Given the description of an element on the screen output the (x, y) to click on. 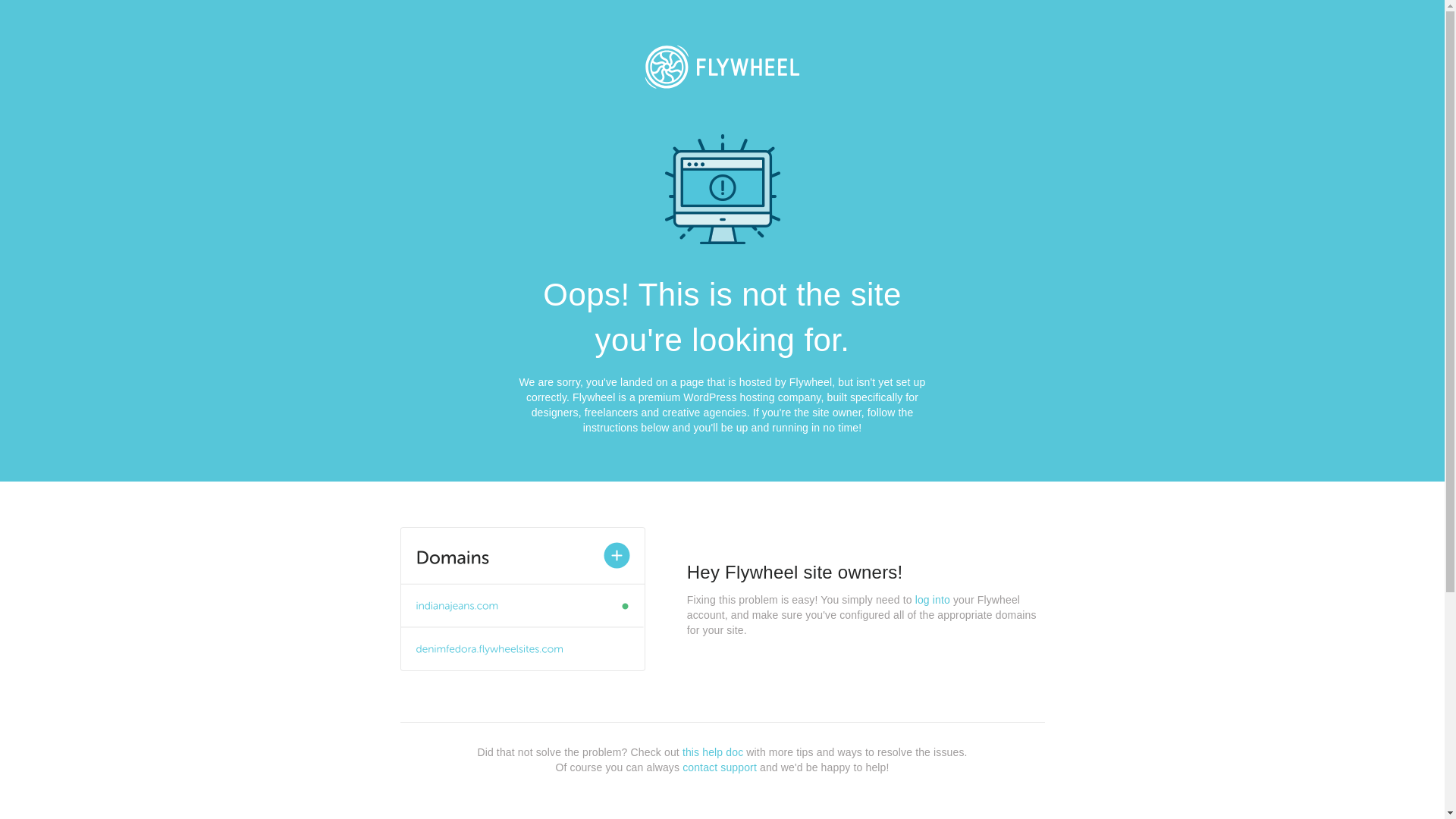
contact support (719, 767)
this help doc (712, 752)
log into (932, 599)
